Given the description of an element on the screen output the (x, y) to click on. 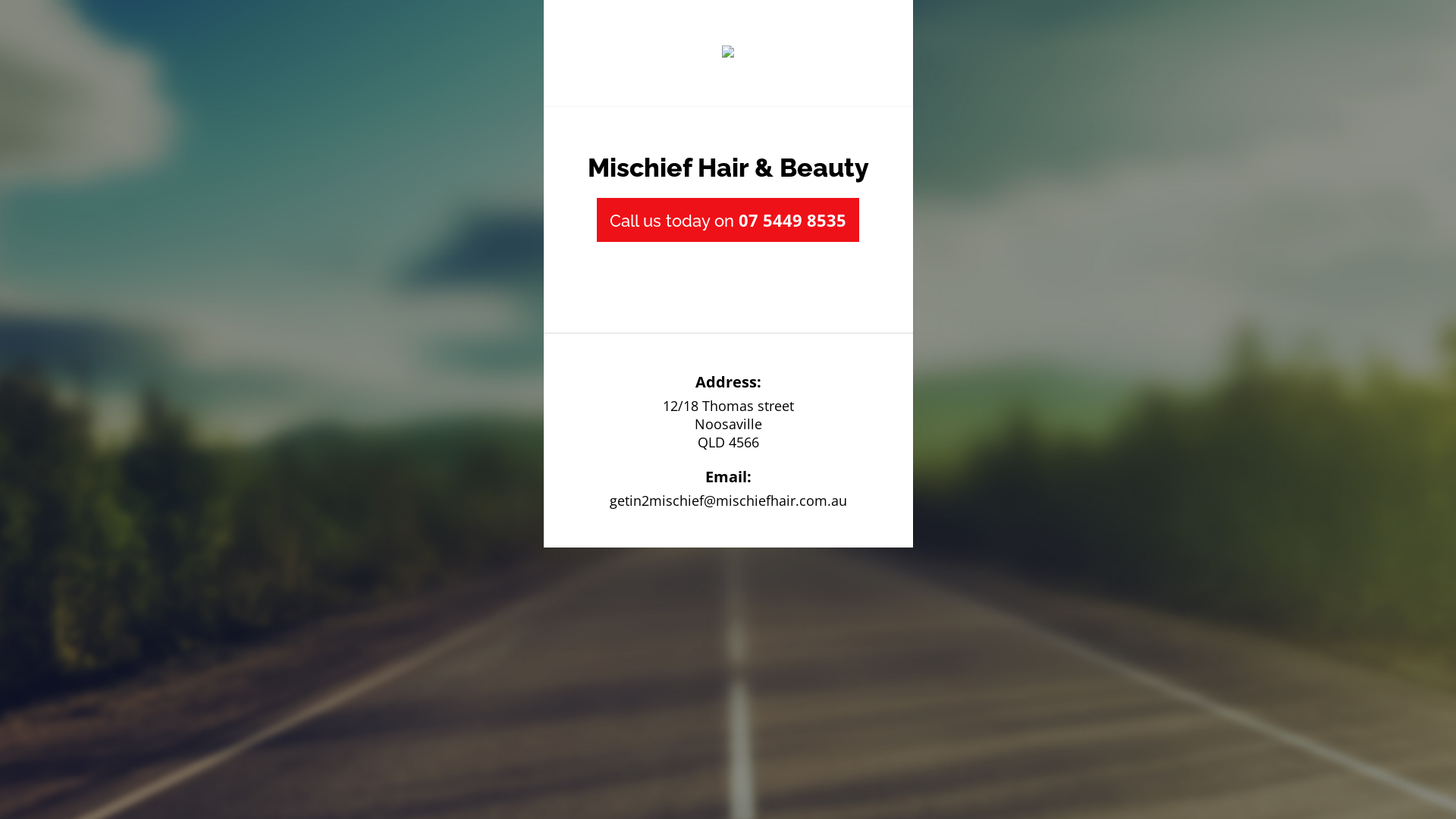
07 5449 8535 Element type: text (792, 219)
getin2mischief@mischiefhair.com.au Element type: text (728, 500)
